Given the description of an element on the screen output the (x, y) to click on. 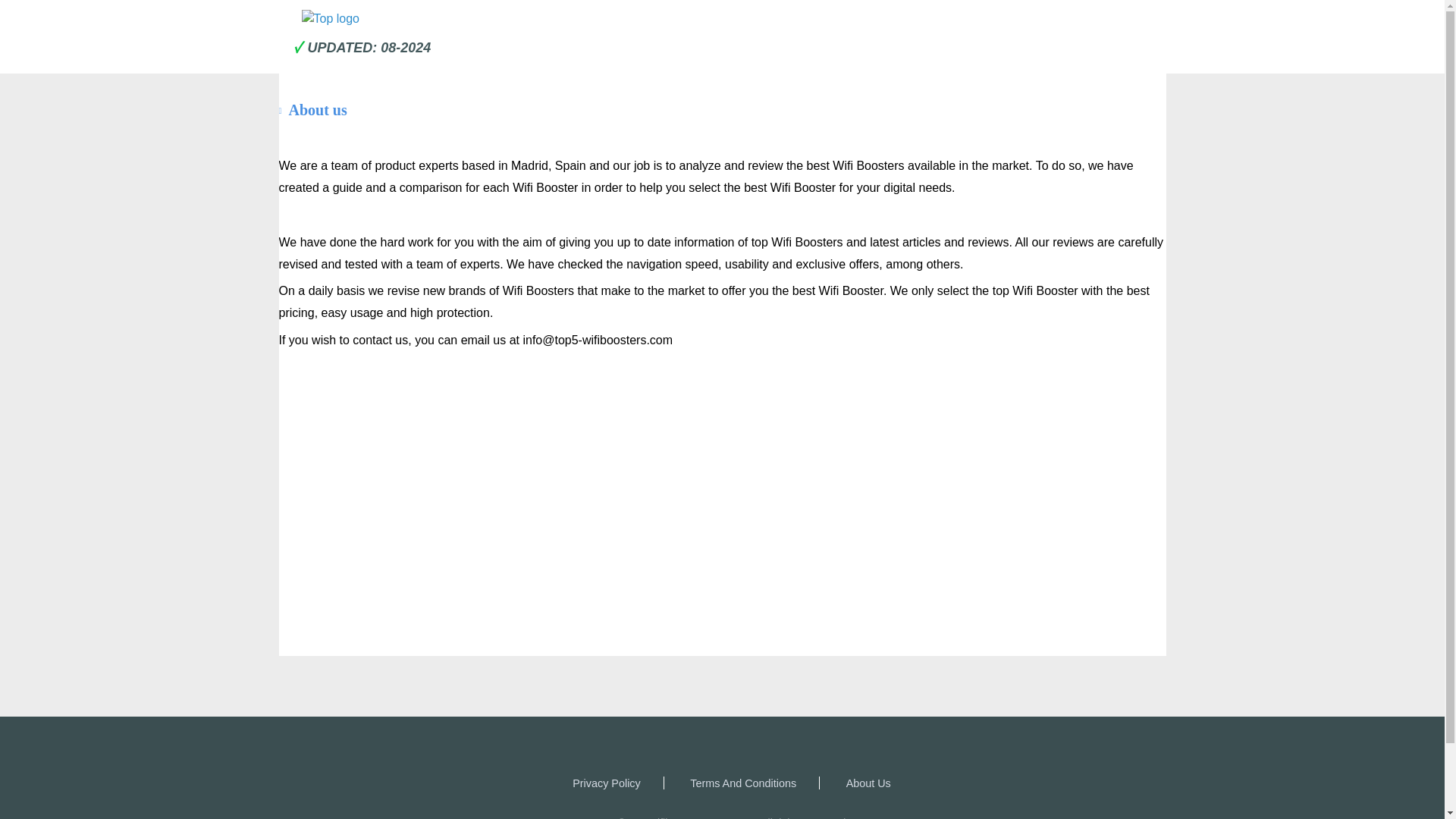
Privacy Policy (606, 782)
Terms And Conditions (743, 782)
About Us (868, 782)
